Given the description of an element on the screen output the (x, y) to click on. 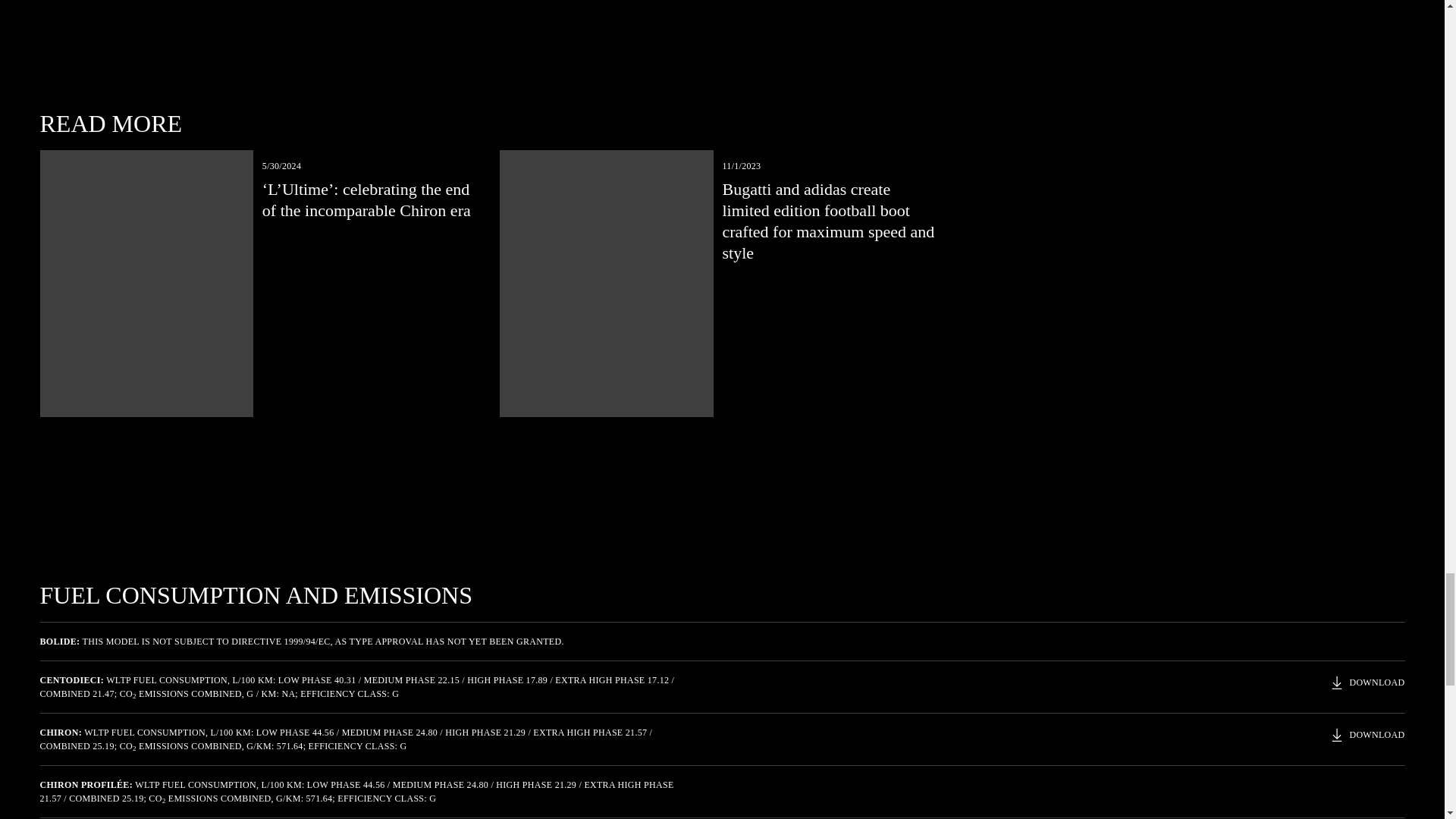
DOWNLOAD (1366, 734)
DOWNLOAD (1366, 682)
